Given the description of an element on the screen output the (x, y) to click on. 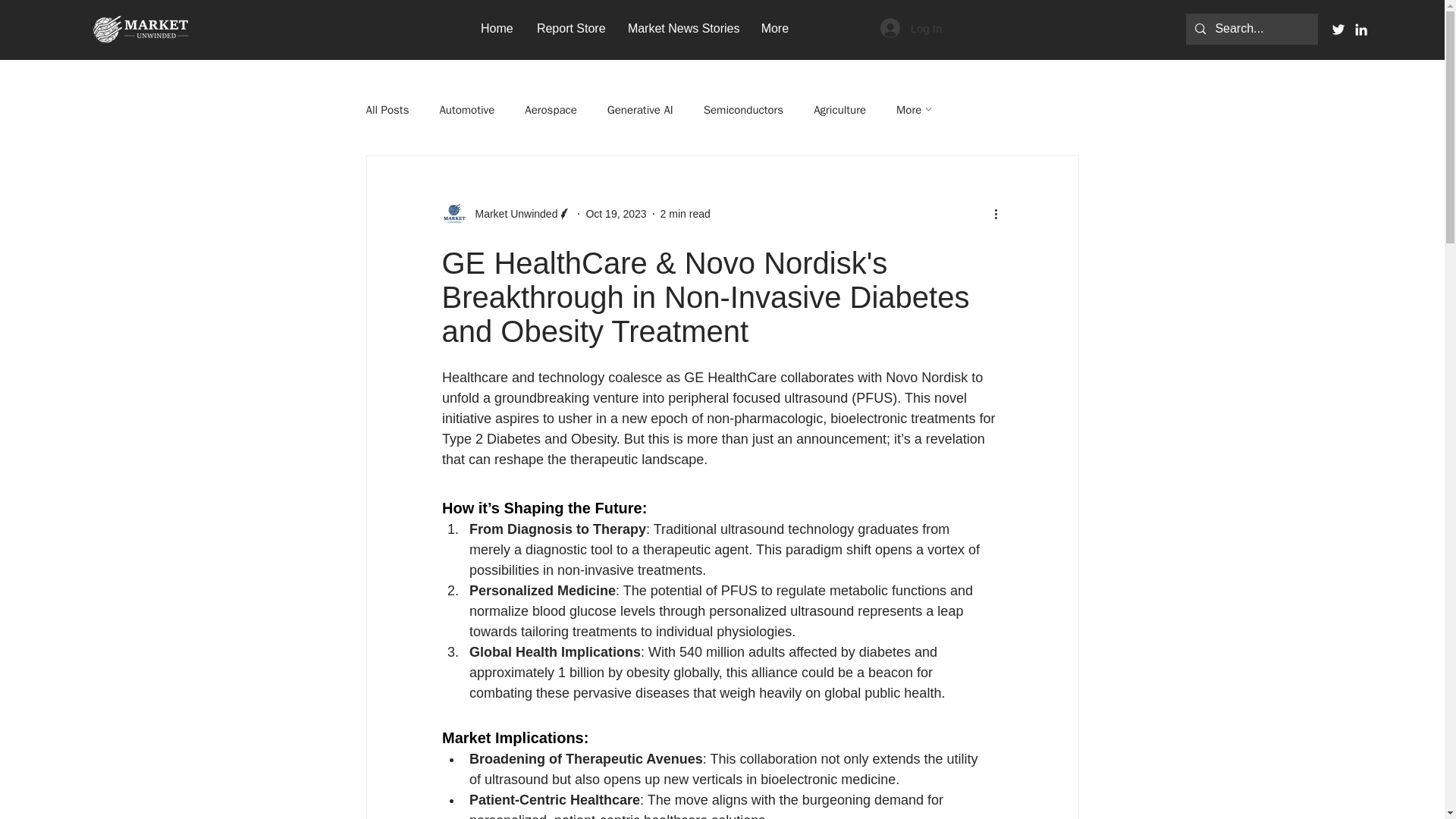
Aerospace (550, 110)
All Posts (387, 110)
Market Unwinded (506, 213)
Report Store (570, 27)
Log In (911, 27)
2 min read (685, 214)
Market Unwinded Logo.png (140, 29)
Semiconductors (743, 110)
Automotive (467, 110)
Oct 19, 2023 (615, 214)
Home (496, 27)
Generative AI (639, 110)
Market News Stories (682, 27)
Agriculture (839, 110)
Market Unwinded (511, 213)
